Given the description of an element on the screen output the (x, y) to click on. 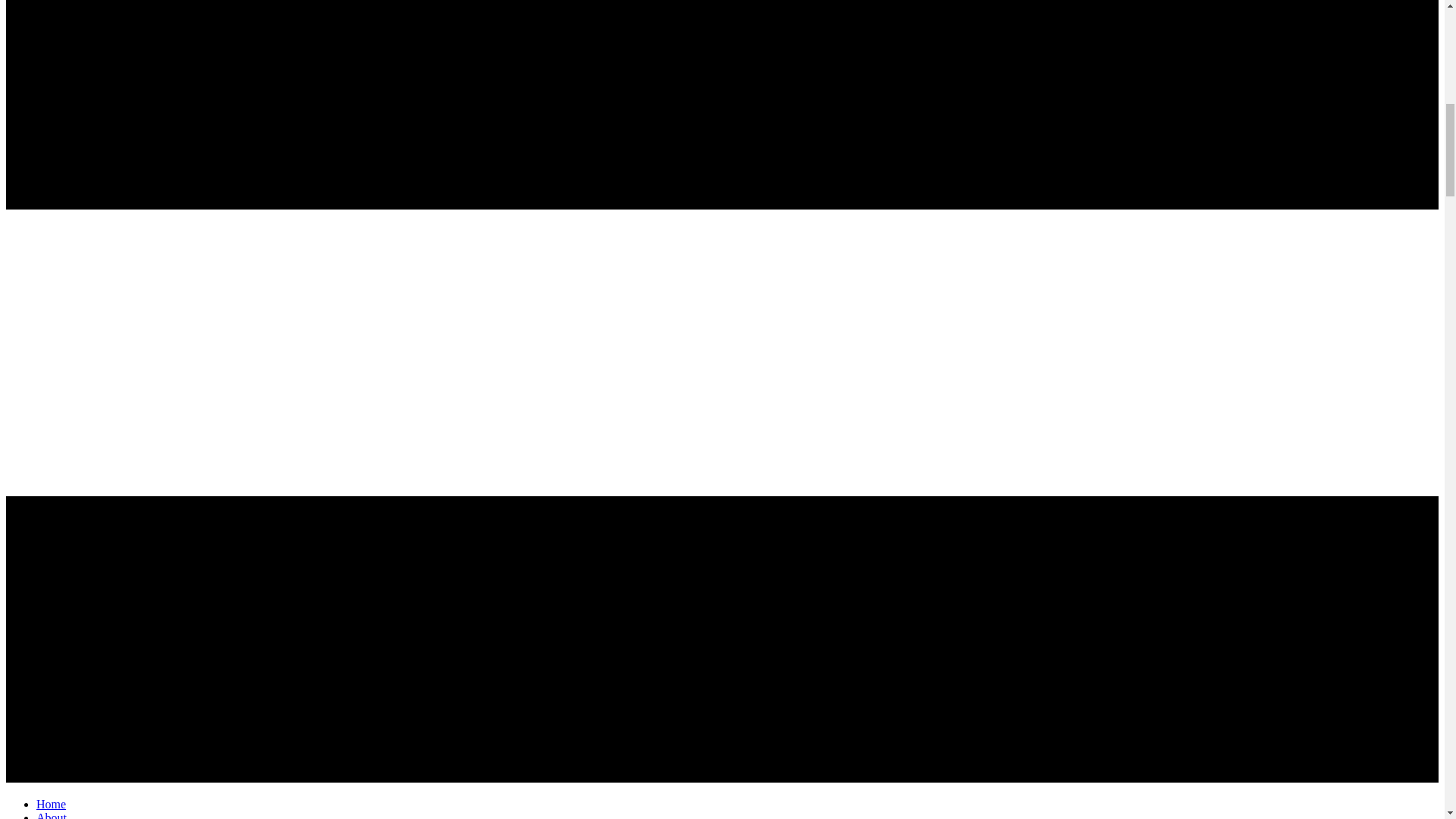
Home (50, 803)
About (51, 815)
